Given the description of an element on the screen output the (x, y) to click on. 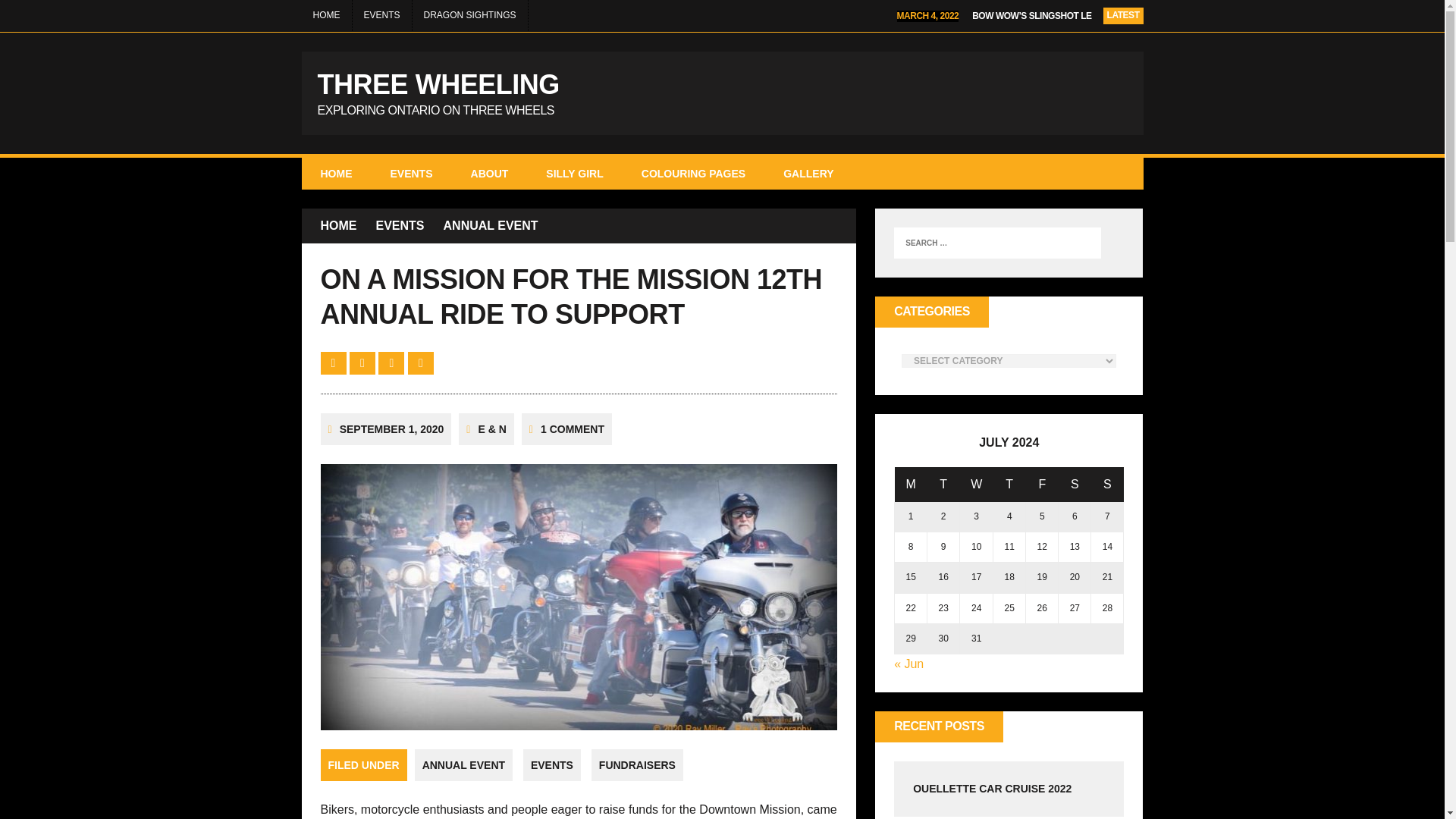
EVENTS (381, 15)
Tweet This Post (363, 362)
GALLERY (807, 173)
DRAGON SIGHTINGS (469, 15)
SILLY GIRL (574, 173)
Share on Facebook (334, 362)
EVENTS (411, 173)
Three Wheeling (721, 93)
HOME (338, 225)
ANNUAL EVENT (491, 225)
SEPTEMBER 1, 2020 (391, 428)
Pin This Post (392, 362)
COLOURING PAGES (693, 173)
HOME (721, 93)
